Given the description of an element on the screen output the (x, y) to click on. 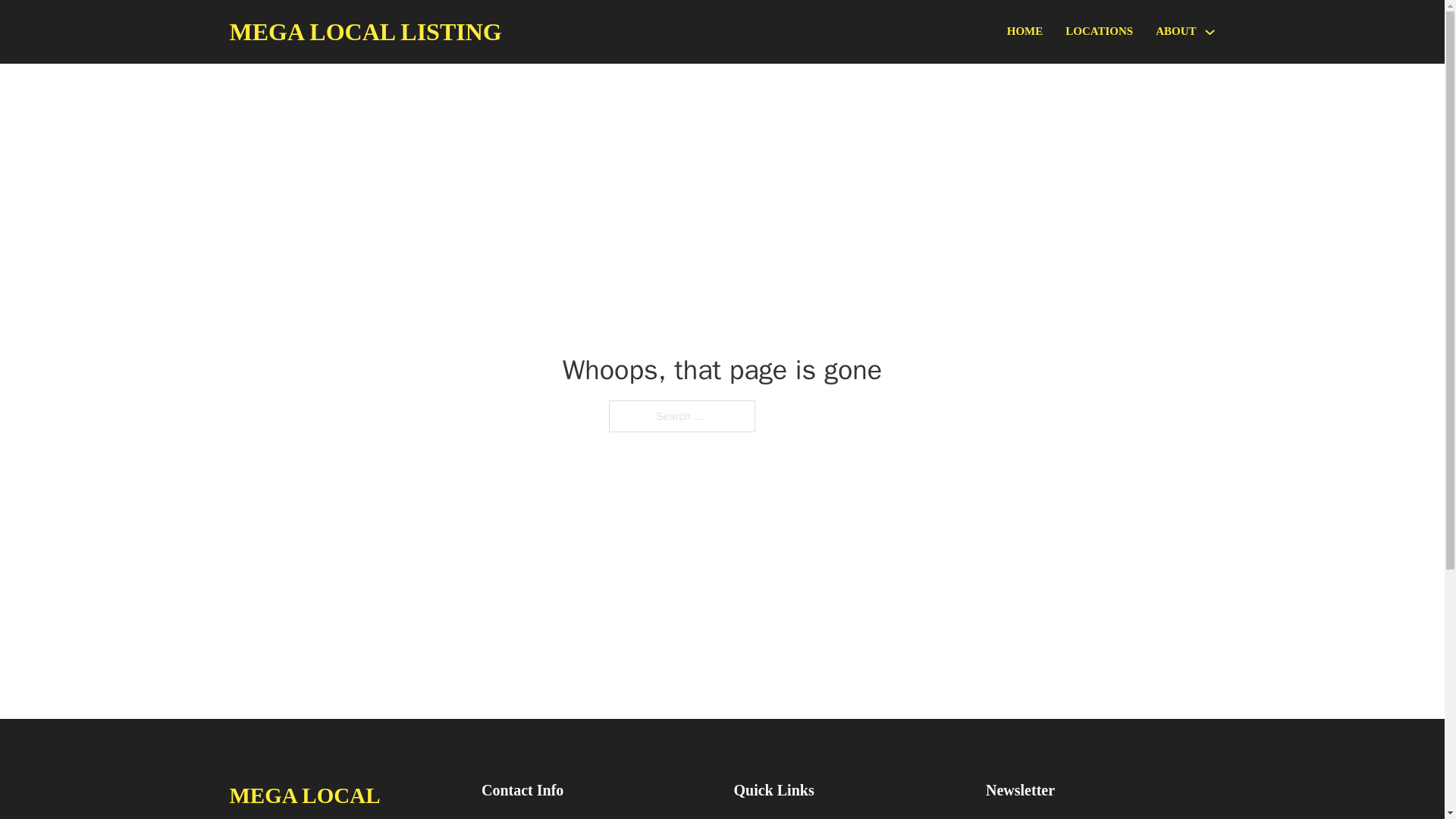
LOCATIONS (1098, 31)
HOME (1025, 31)
MEGA LOCAL LISTING (364, 31)
MEGA LOCAL LISTING (343, 798)
